Given the description of an element on the screen output the (x, y) to click on. 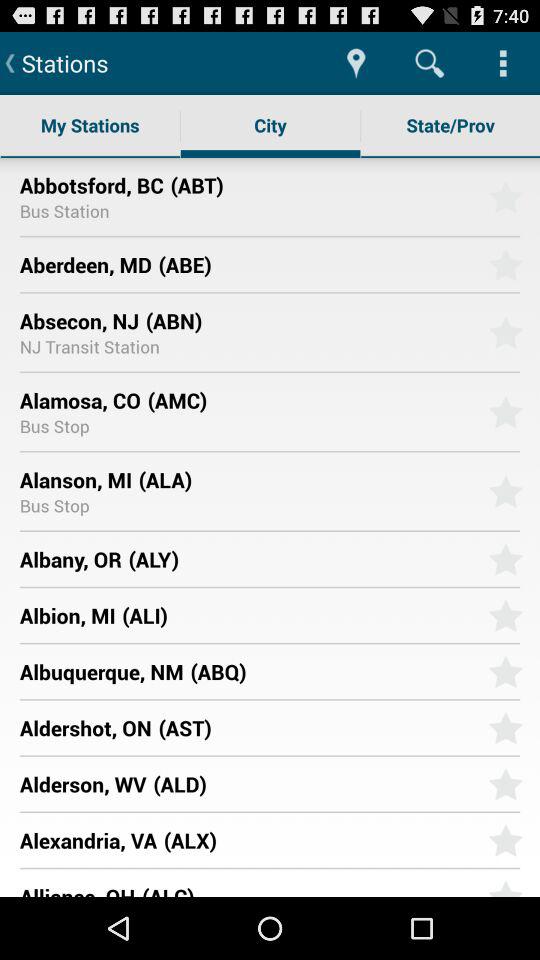
turn on the item next to (alx) icon (88, 840)
